Given the description of an element on the screen output the (x, y) to click on. 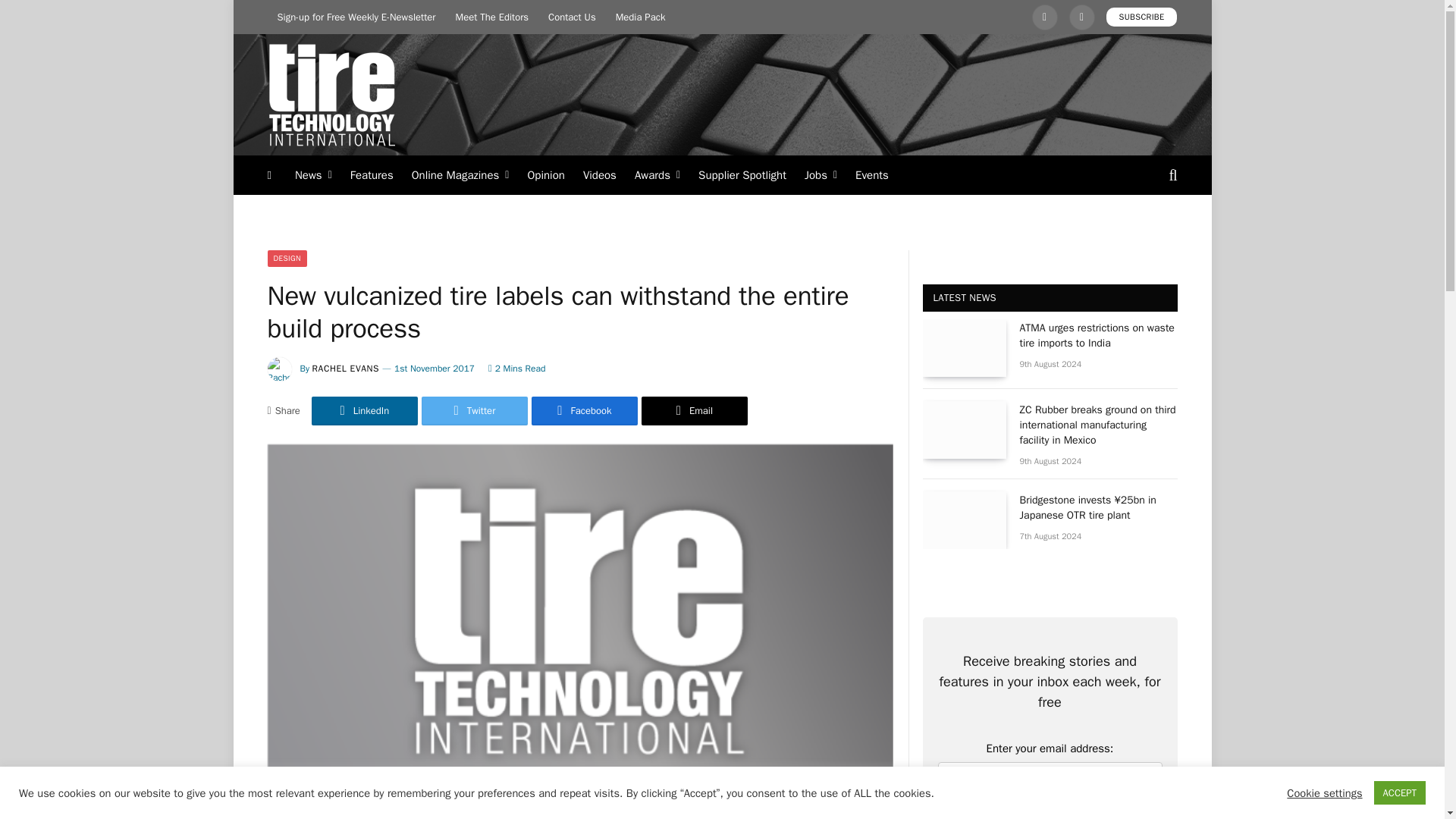
Share via Email (695, 410)
Share on LinkedIn (364, 410)
Share on Facebook (584, 410)
Posts by Rachel Evans (345, 368)
Tire Technology International (330, 94)
Share on Twitter (474, 410)
